Given the description of an element on the screen output the (x, y) to click on. 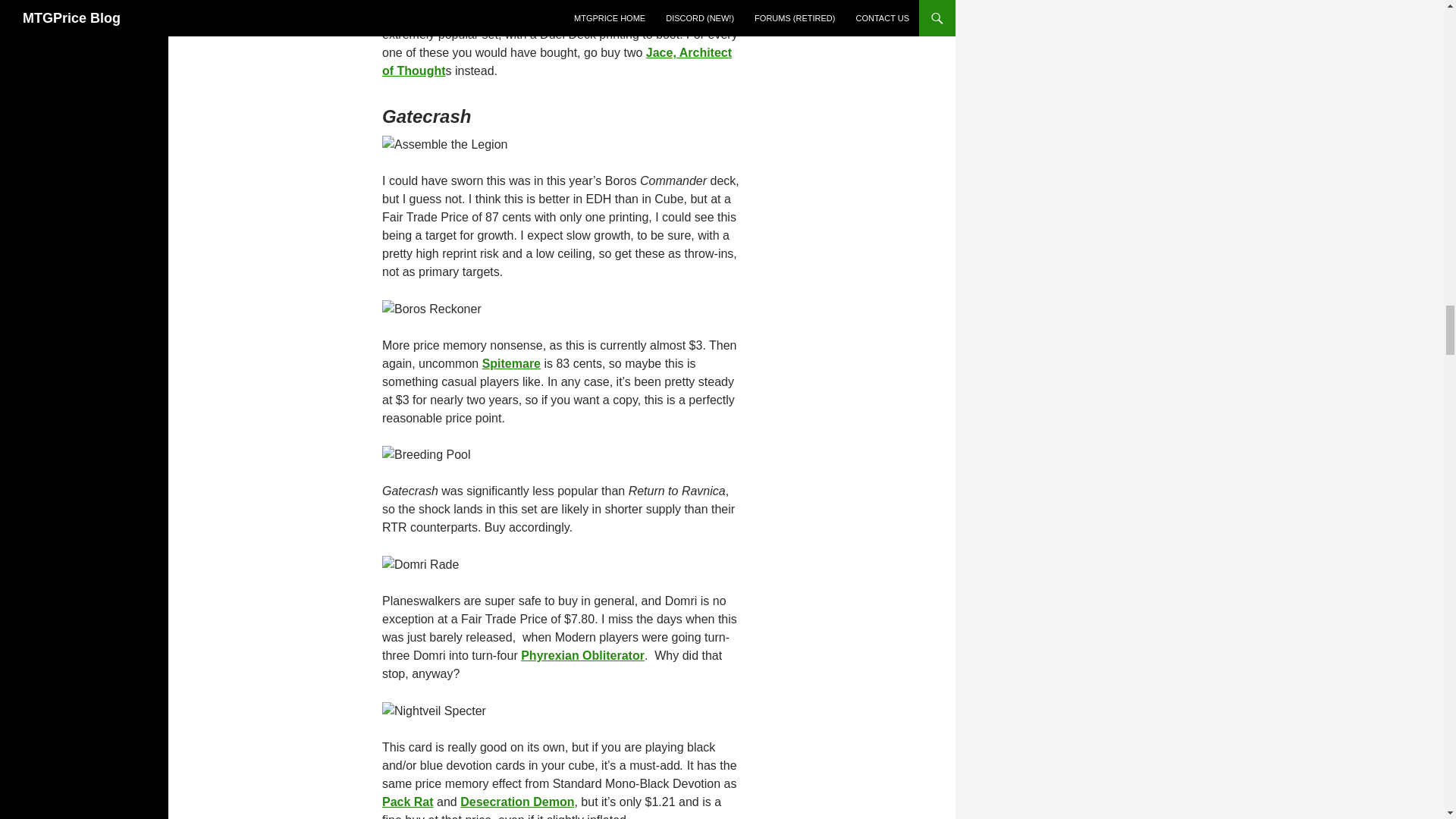
Pack Rat (407, 801)
Phyrexian Obliterator (583, 655)
Jace, Architect of Thought (556, 60)
Spitemare (510, 363)
Desecration Demon (516, 801)
